Given the description of an element on the screen output the (x, y) to click on. 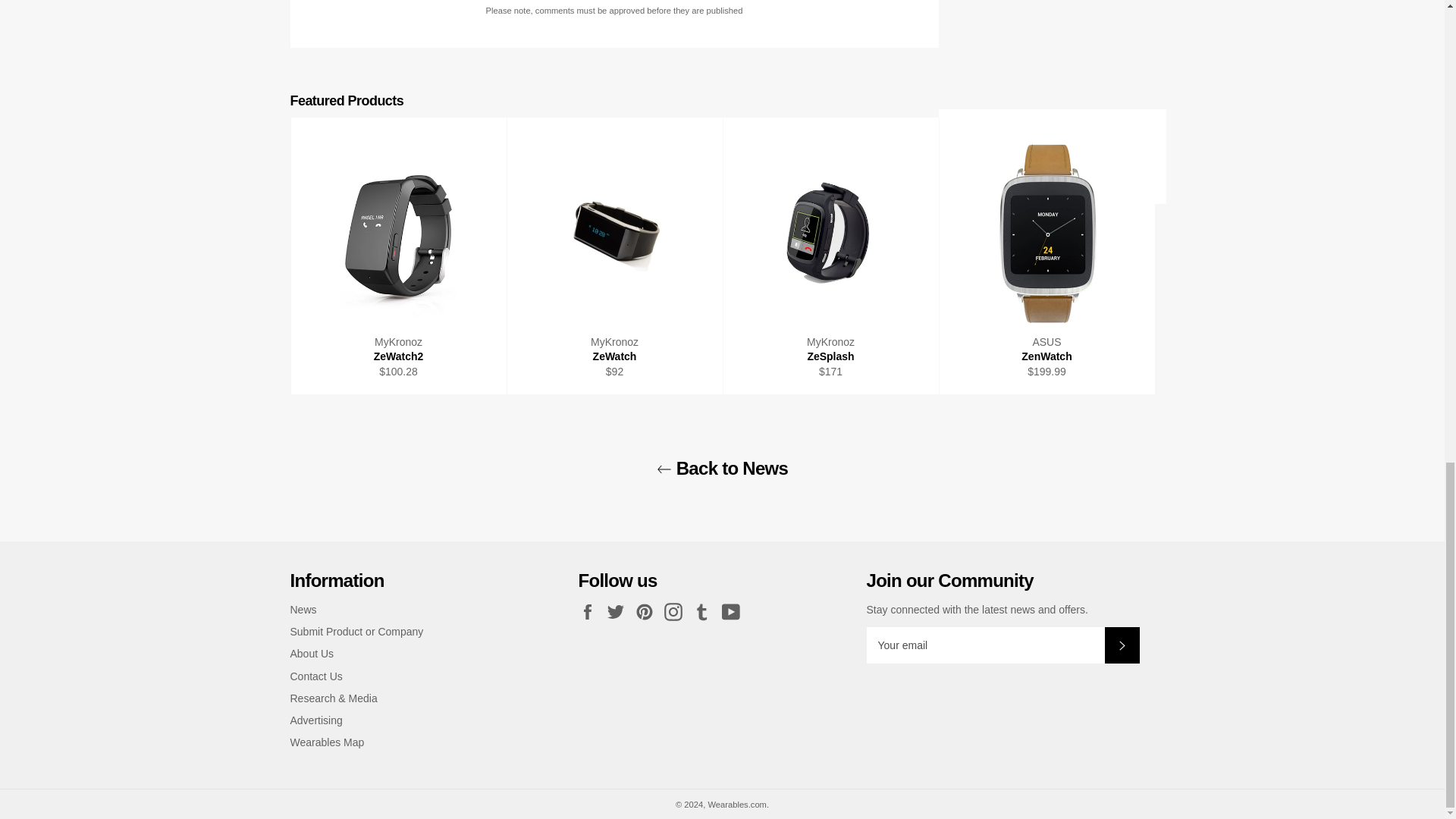
Wearables.com on Instagram (676, 611)
Wearables.com on Twitter (619, 611)
Wearables.com on Tumblr (706, 611)
Wearables.com on Pinterest (647, 611)
Wearables.com on YouTube (735, 611)
Wearables.com on Facebook (591, 611)
